Given the description of an element on the screen output the (x, y) to click on. 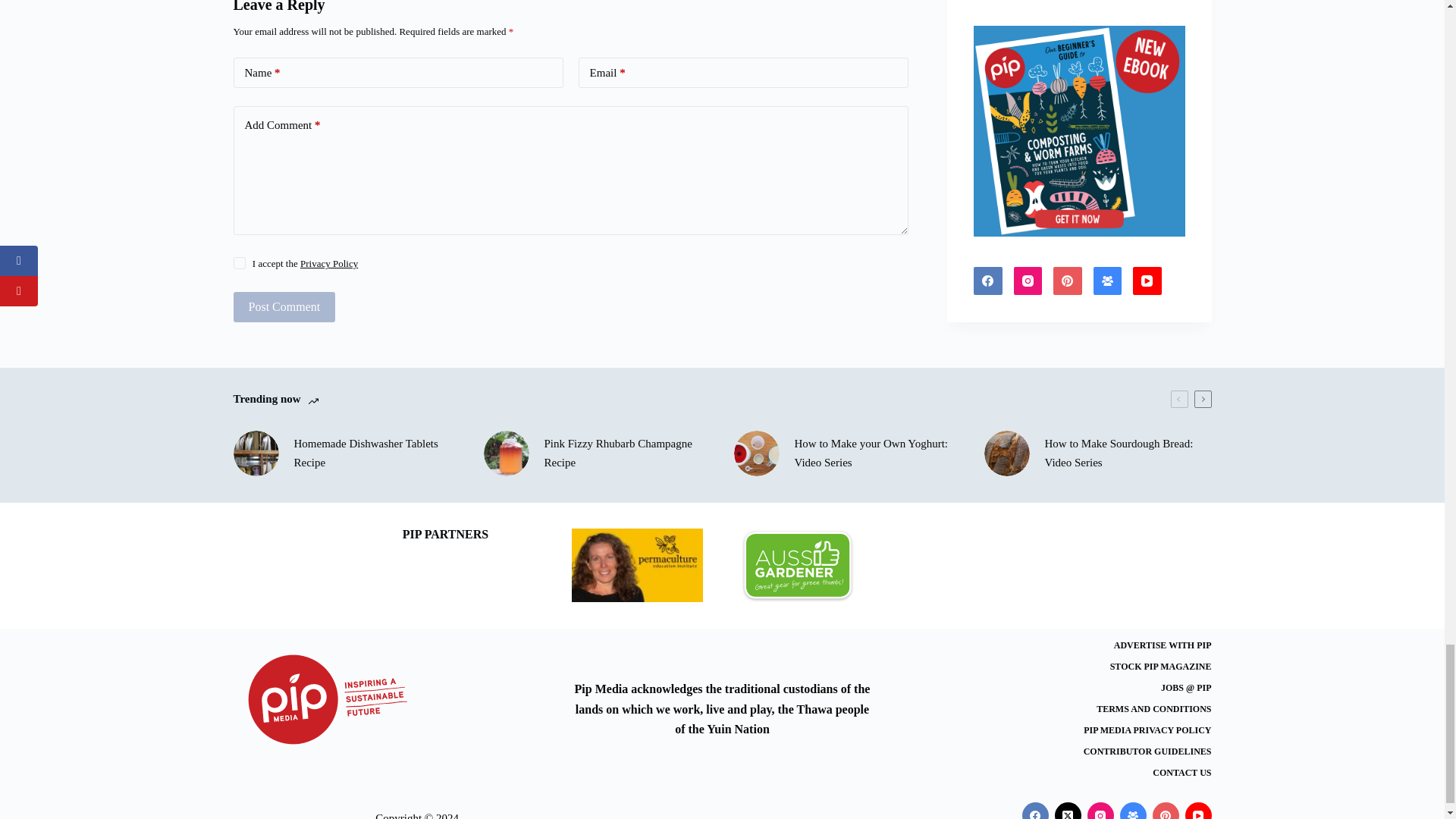
on (239, 263)
